Given the description of an element on the screen output the (x, y) to click on. 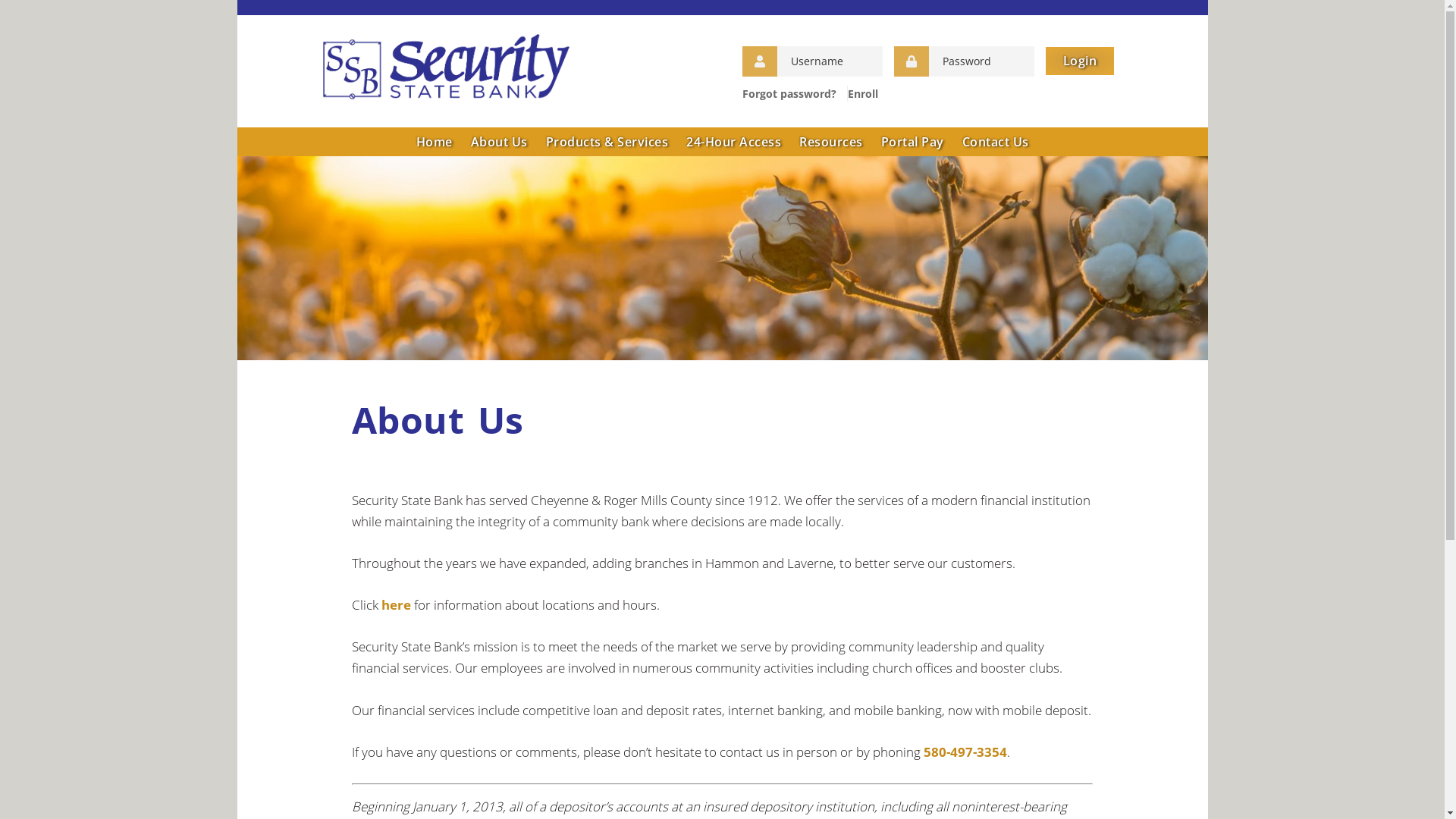
Contact Us Element type: text (994, 141)
Home Element type: text (433, 141)
24-Hour Access Element type: text (733, 141)
Login Element type: text (1079, 61)
Forgot password? Element type: text (789, 93)
Enroll Element type: text (862, 93)
Online Banking User ID Input Element type: hover (829, 61)
Resources Element type: text (831, 141)
Portal Pay Element type: text (912, 141)
here Element type: text (396, 604)
Online Banking Password Input Element type: hover (981, 61)
580-497-3354 Element type: text (965, 751)
Products & Services Element type: text (606, 141)
About Us Element type: text (498, 141)
